Given the description of an element on the screen output the (x, y) to click on. 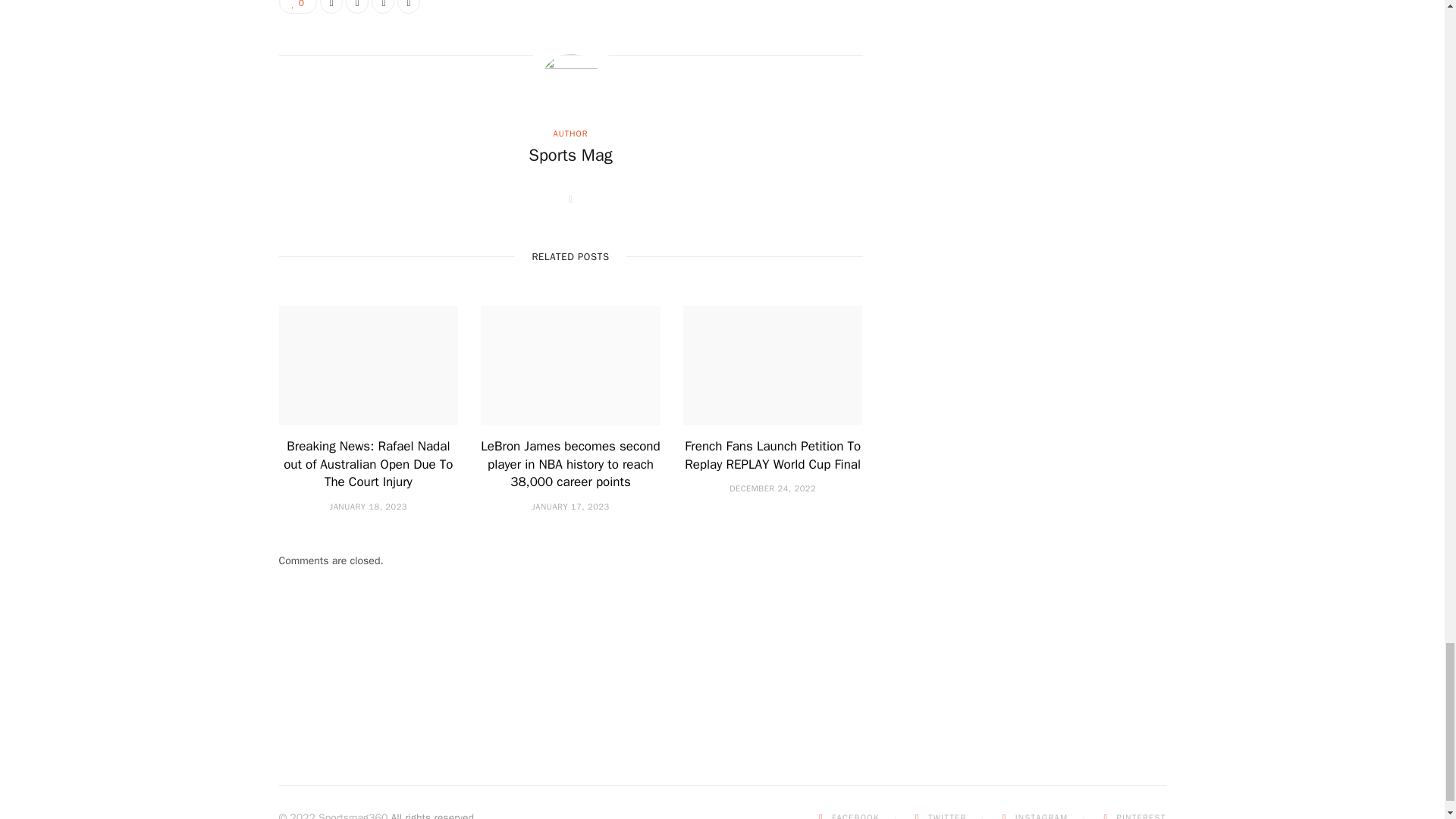
Share on Twitter (357, 6)
Share on Facebook (331, 6)
Sports Mag (569, 155)
0 (298, 6)
Posts by Sports Mag (569, 155)
Share on Pinterest (408, 6)
